Given the description of an element on the screen output the (x, y) to click on. 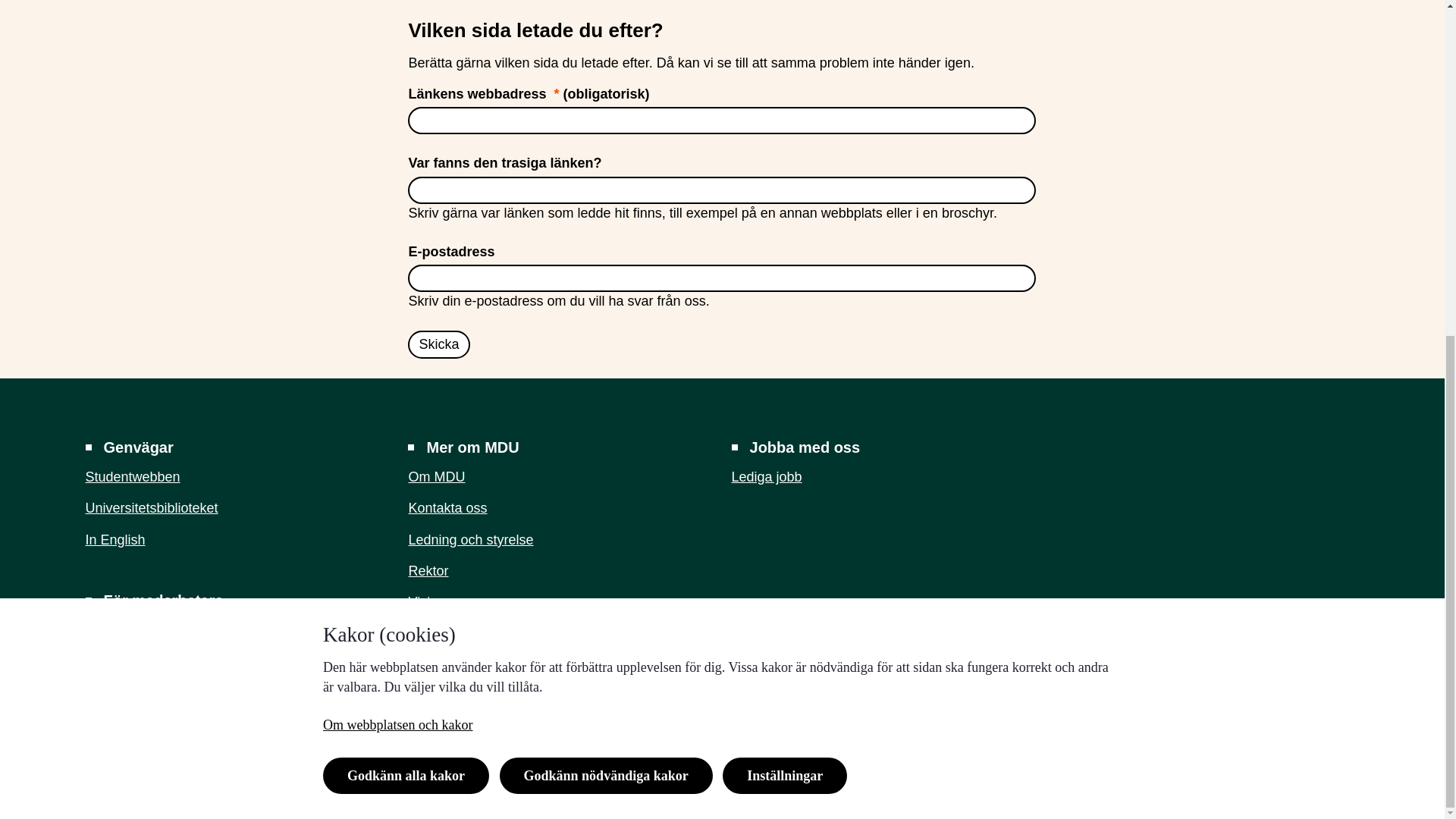
Skicka (437, 344)
Rektor (427, 570)
In English (114, 539)
Kontakta oss (446, 507)
Universitetsbiblioteket (150, 507)
Om MDU (435, 476)
Studentwebben (131, 476)
Ledning och styrelse (469, 539)
Hantera MDU-konto (145, 661)
Om webbplatsen och kakor (397, 161)
Skicka (437, 344)
